Given the description of an element on the screen output the (x, y) to click on. 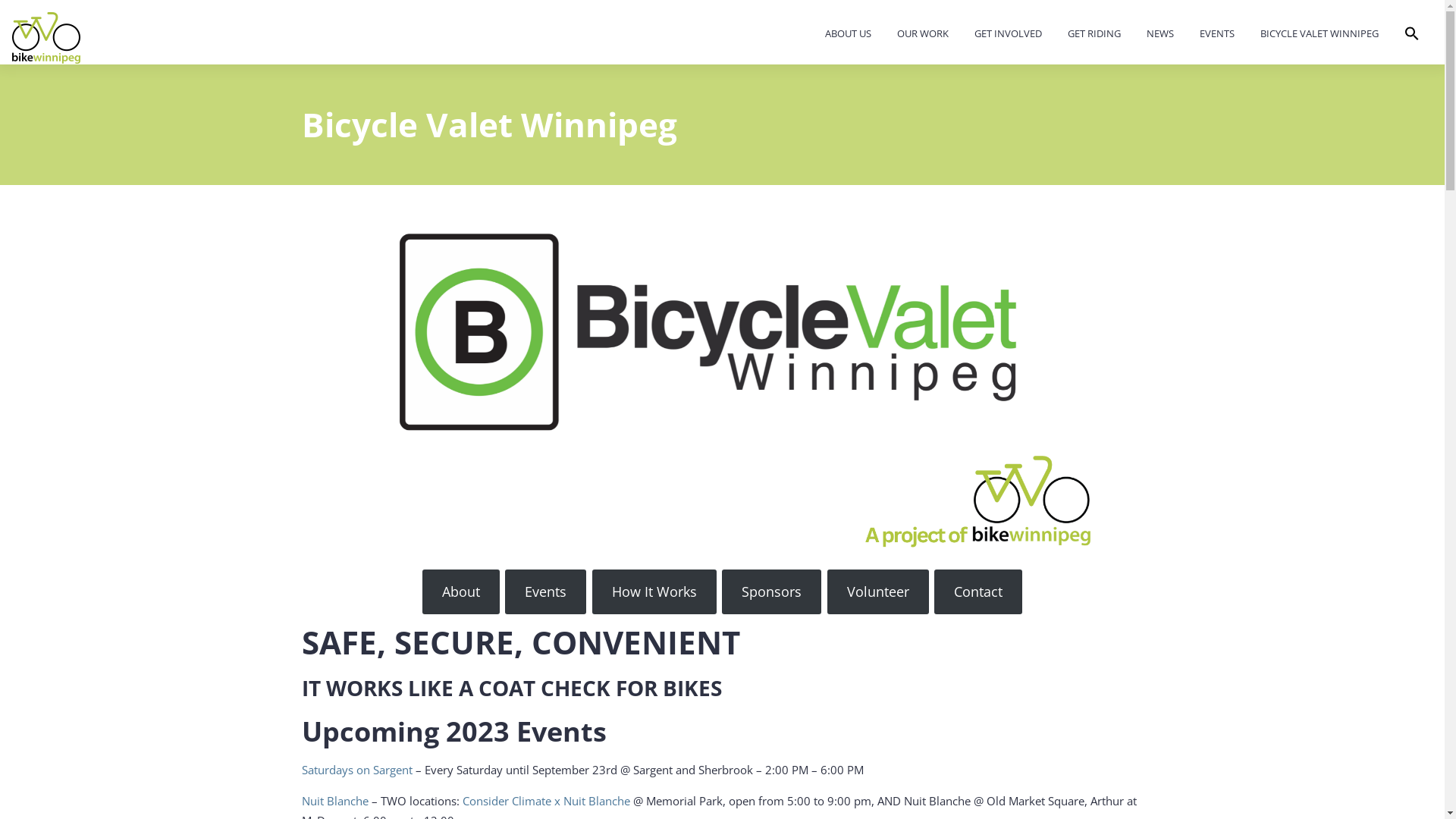
Events Element type: text (545, 591)
About Element type: text (460, 591)
BICYCLE VALET WINNIPEG Element type: text (1319, 35)
ABOUT US Element type: text (848, 35)
Nuit Blanche Element type: text (334, 800)
Consider Climate x Nuit Blanche Element type: text (546, 800)
NEWS Element type: text (1159, 35)
GET INVOLVED Element type: text (1007, 35)
Saturdays on Sargent Element type: text (356, 769)
Bike Winnipeg Element type: hover (46, 37)
Volunteer Element type: text (877, 591)
EVENTS Element type: text (1216, 35)
GET RIDING Element type: text (1093, 35)
OUR WORK Element type: text (922, 35)
Sponsors Element type: text (771, 591)
Contact Element type: text (978, 591)
How It Works Element type: text (654, 591)
